Given the description of an element on the screen output the (x, y) to click on. 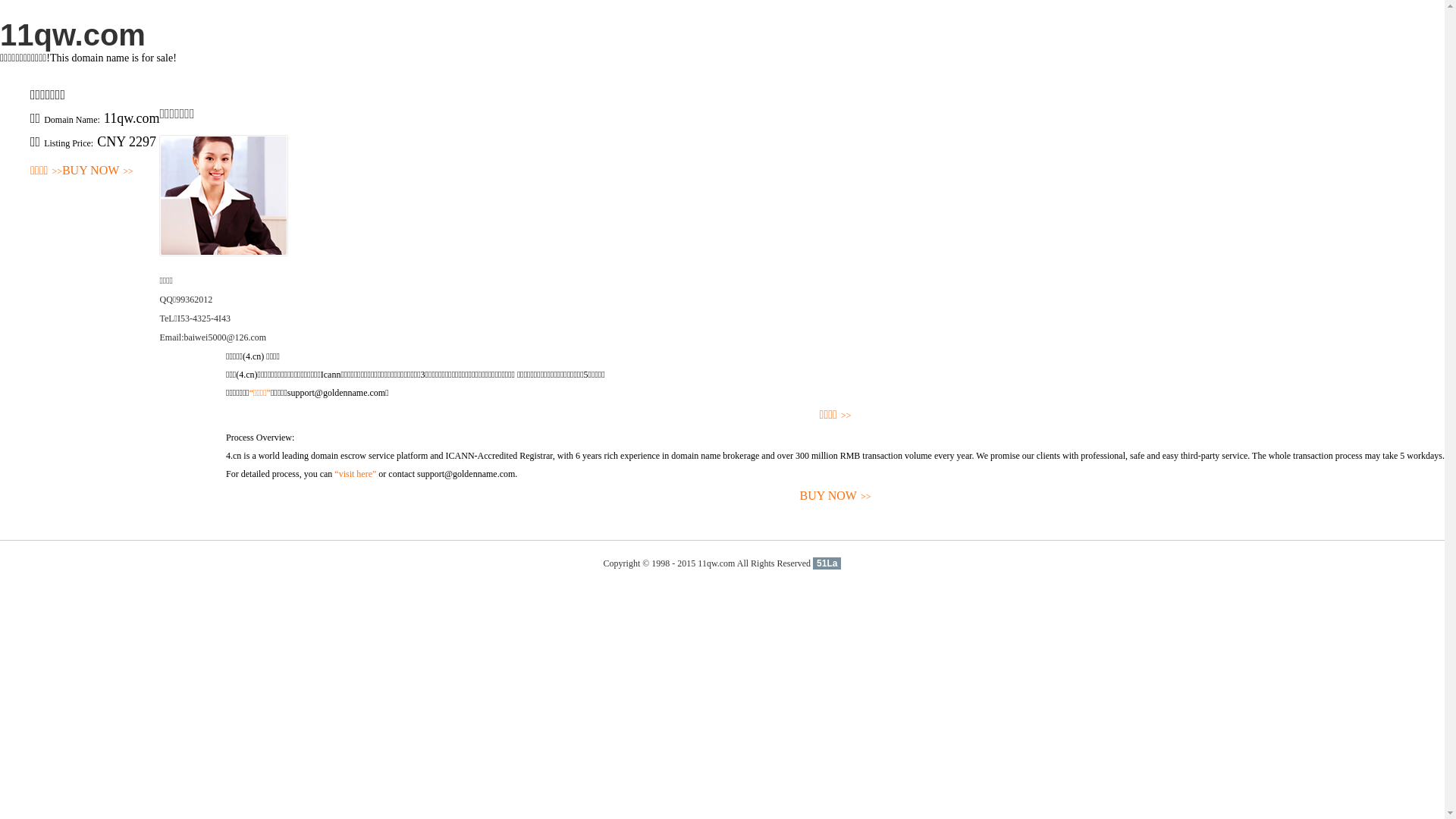
BUY NOW>> Element type: text (834, 496)
51La Element type: text (826, 563)
BUY NOW>> Element type: text (97, 170)
